Given the description of an element on the screen output the (x, y) to click on. 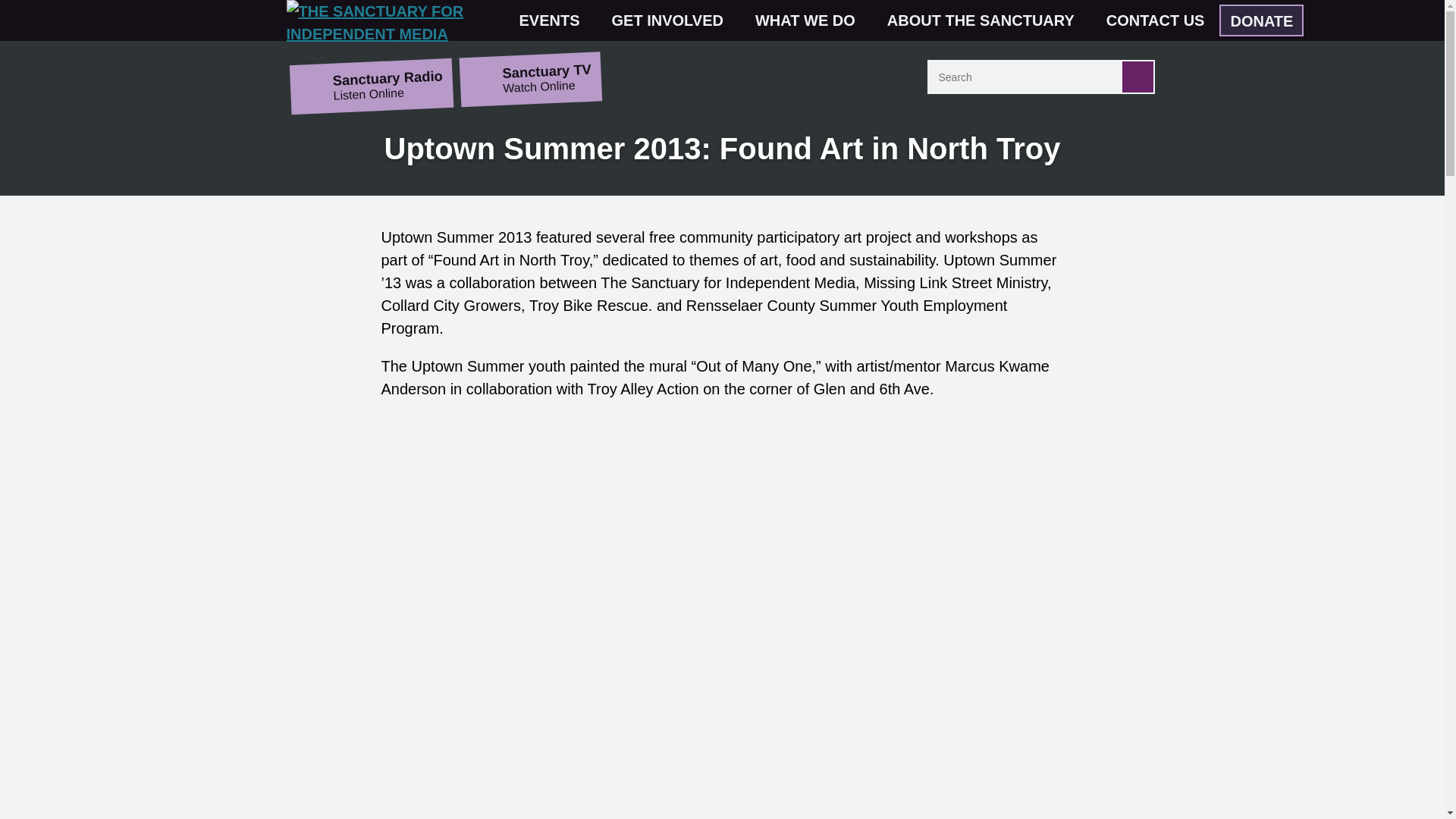
WHAT WE DO (811, 20)
EVENTS (555, 20)
GET INVOLVED (673, 20)
ABOUT THE SANCTUARY (987, 20)
